Given the description of an element on the screen output the (x, y) to click on. 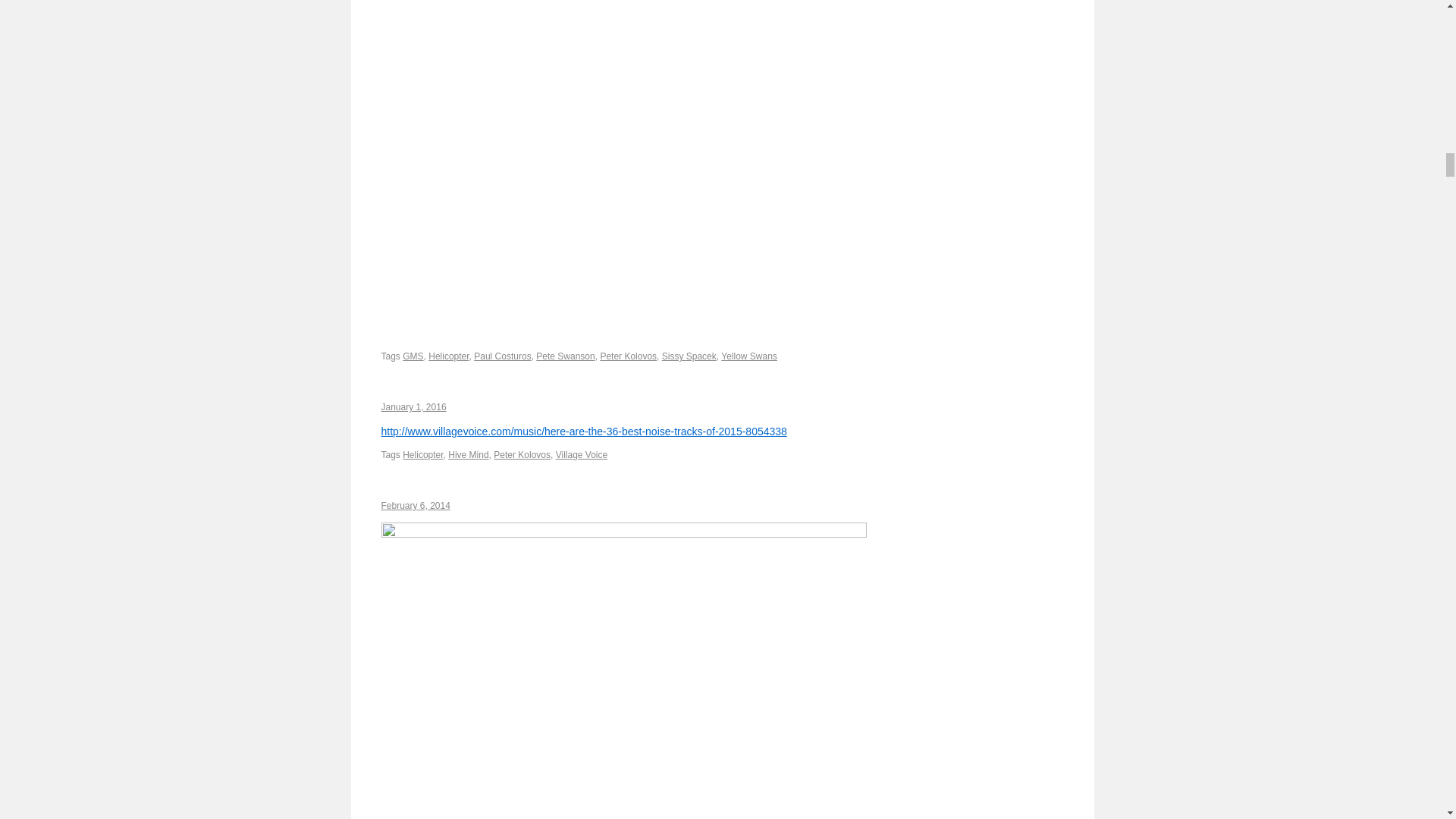
Helicopter (422, 454)
Pete Swanson (564, 356)
11:23 pm (414, 505)
Sissy Spacek (689, 356)
February 6, 2014 (414, 505)
Yellow Swans (748, 356)
Peter Kolovos (521, 454)
Hive Mind (467, 454)
GMS (413, 356)
Peter Kolovos (627, 356)
Paul Costuros (502, 356)
January 1, 2016 (412, 407)
Helicopter (448, 356)
Village Voice (582, 454)
